Given the description of an element on the screen output the (x, y) to click on. 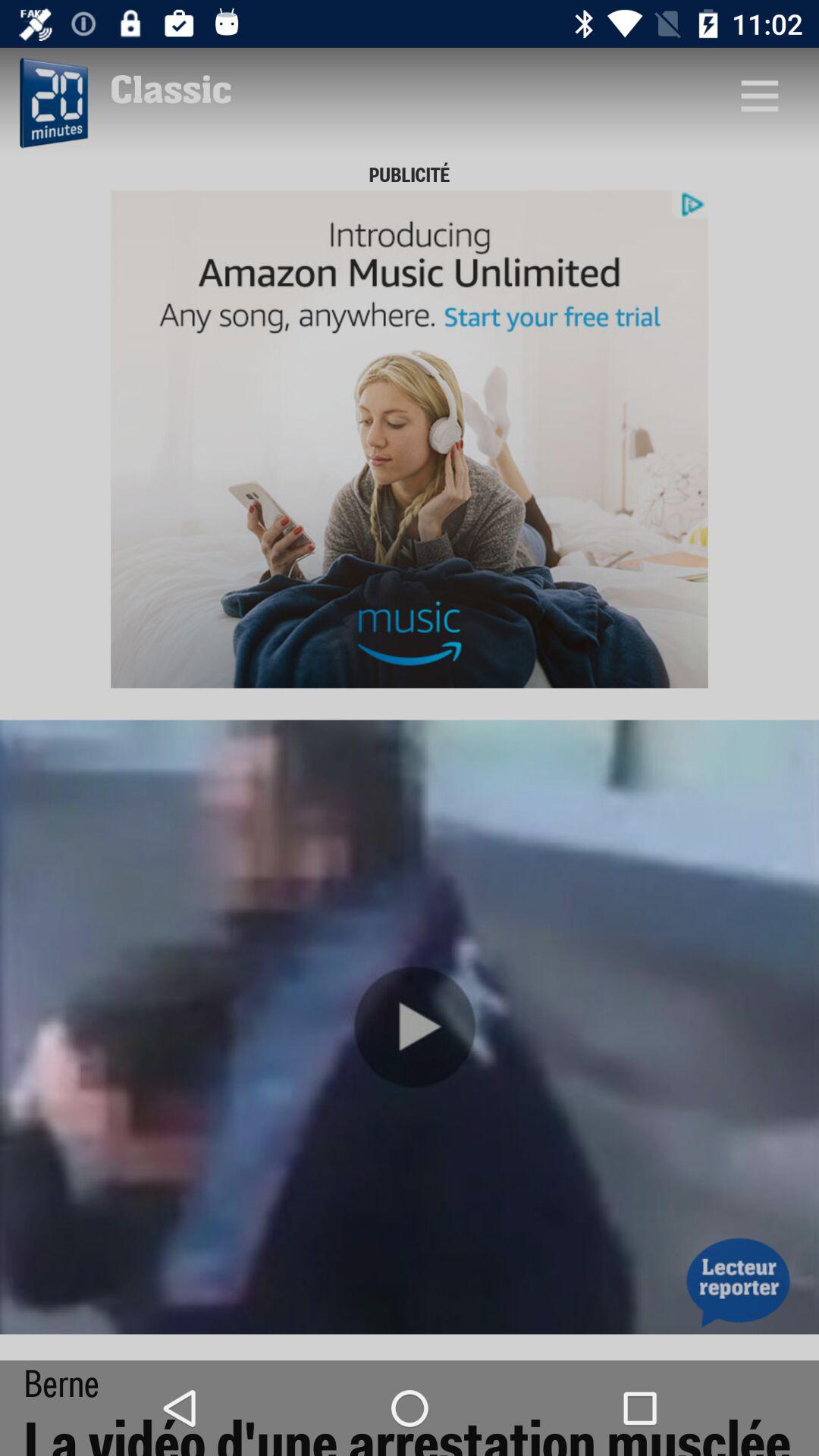
menu (759, 95)
